Given the description of an element on the screen output the (x, y) to click on. 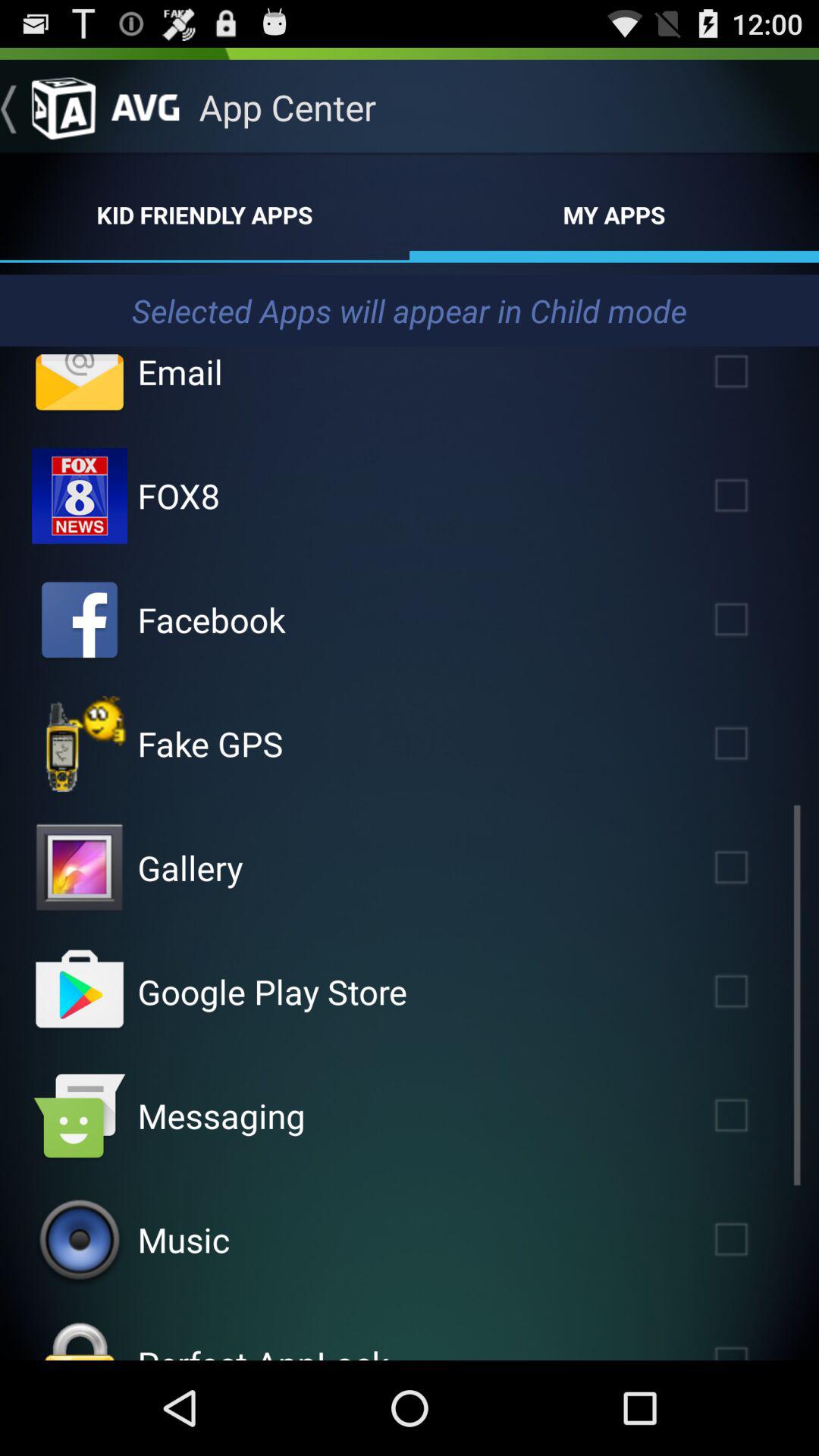
choose the app above perfect applock app (183, 1239)
